Given the description of an element on the screen output the (x, y) to click on. 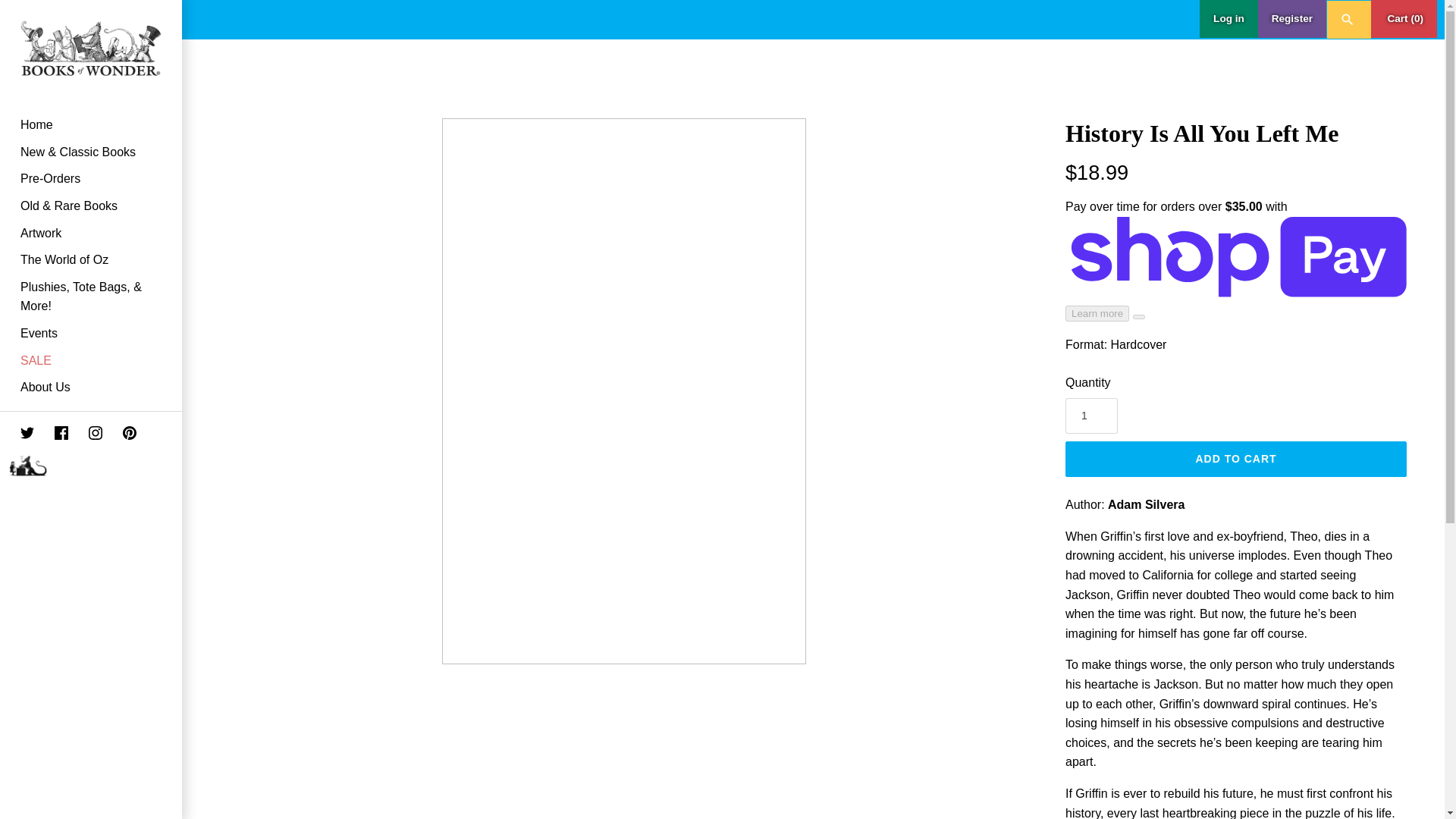
Pinterest (129, 432)
Pinterest (118, 435)
Log in (1228, 18)
Books of Wonder (91, 48)
Home (91, 124)
Facebook (61, 432)
1 (1091, 416)
Instagram (94, 432)
Instagram (84, 435)
Pre-Orders (91, 178)
